Given the description of an element on the screen output the (x, y) to click on. 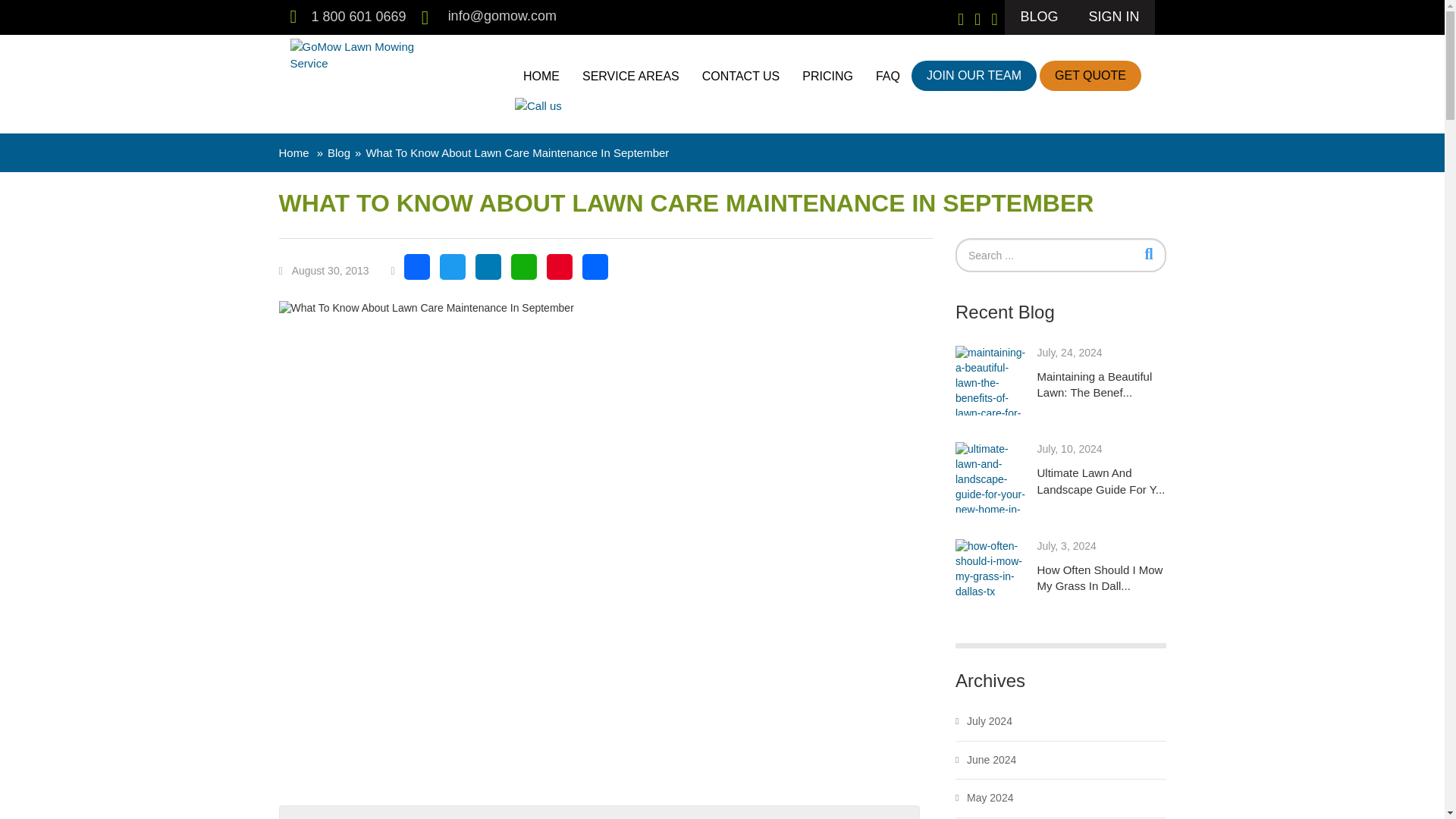
Facebook (421, 271)
Pinterest (564, 271)
1 800 601 0669 (358, 17)
SERVICE AREAS (630, 76)
BLOG (1038, 17)
Blog (338, 152)
Twitter (457, 271)
Share (599, 271)
WhatsApp (529, 271)
GET QUOTE (1090, 75)
SIGN IN (1113, 17)
HOME (541, 76)
JOIN OUR TEAM (973, 75)
CONTACT US (741, 76)
LinkedIn (493, 271)
